Given the description of an element on the screen output the (x, y) to click on. 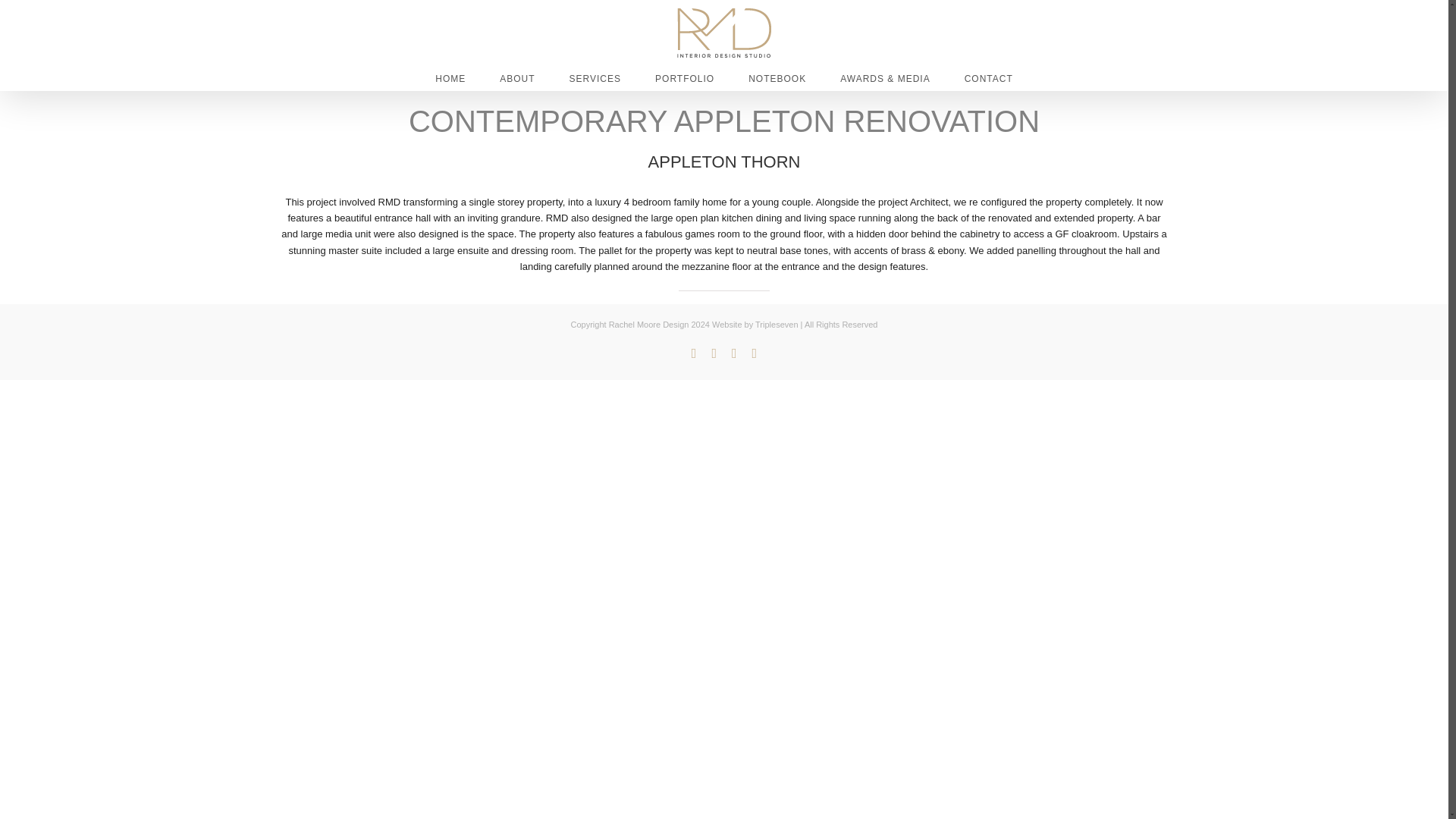
Tripleseven (776, 324)
ABOUT (516, 78)
CONTACT (988, 78)
NOTEBOOK (777, 78)
PORTFOLIO (684, 78)
SERVICES (595, 78)
HOME (450, 78)
